Given the description of an element on the screen output the (x, y) to click on. 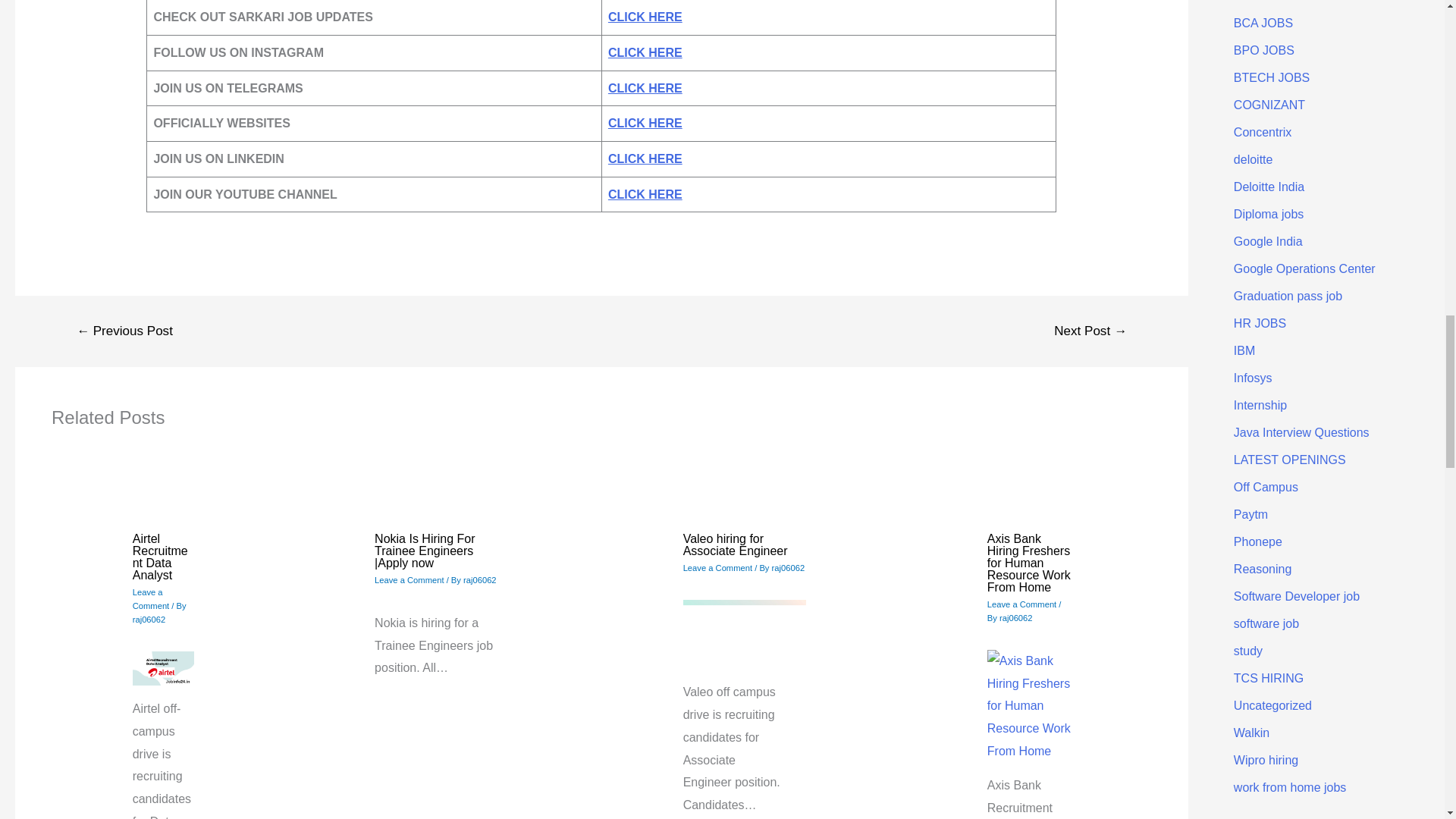
CLICK HERE (645, 16)
CLICK HERE (645, 194)
Airtel Recruitment Data Analyst 3 (162, 668)
CLICK HERE (645, 88)
CLICK HERE (645, 123)
raj06062 (148, 619)
Leave a Comment (409, 579)
View all posts by raj06062 (788, 567)
CLICK HERE (645, 51)
Leave a Comment (717, 567)
